Given the description of an element on the screen output the (x, y) to click on. 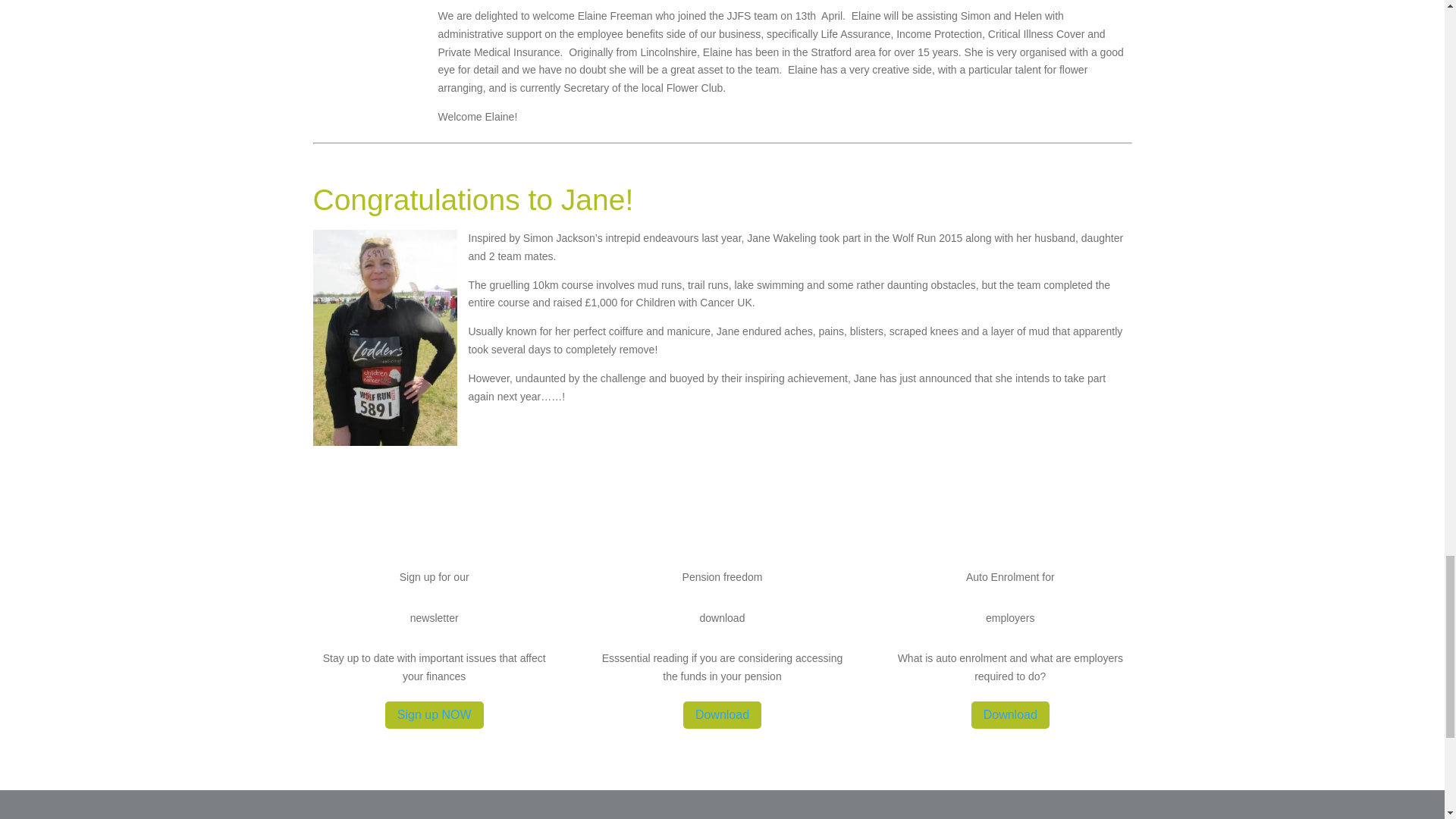
Sign up NOW (434, 715)
Download (721, 715)
Download (1010, 715)
